Given the description of an element on the screen output the (x, y) to click on. 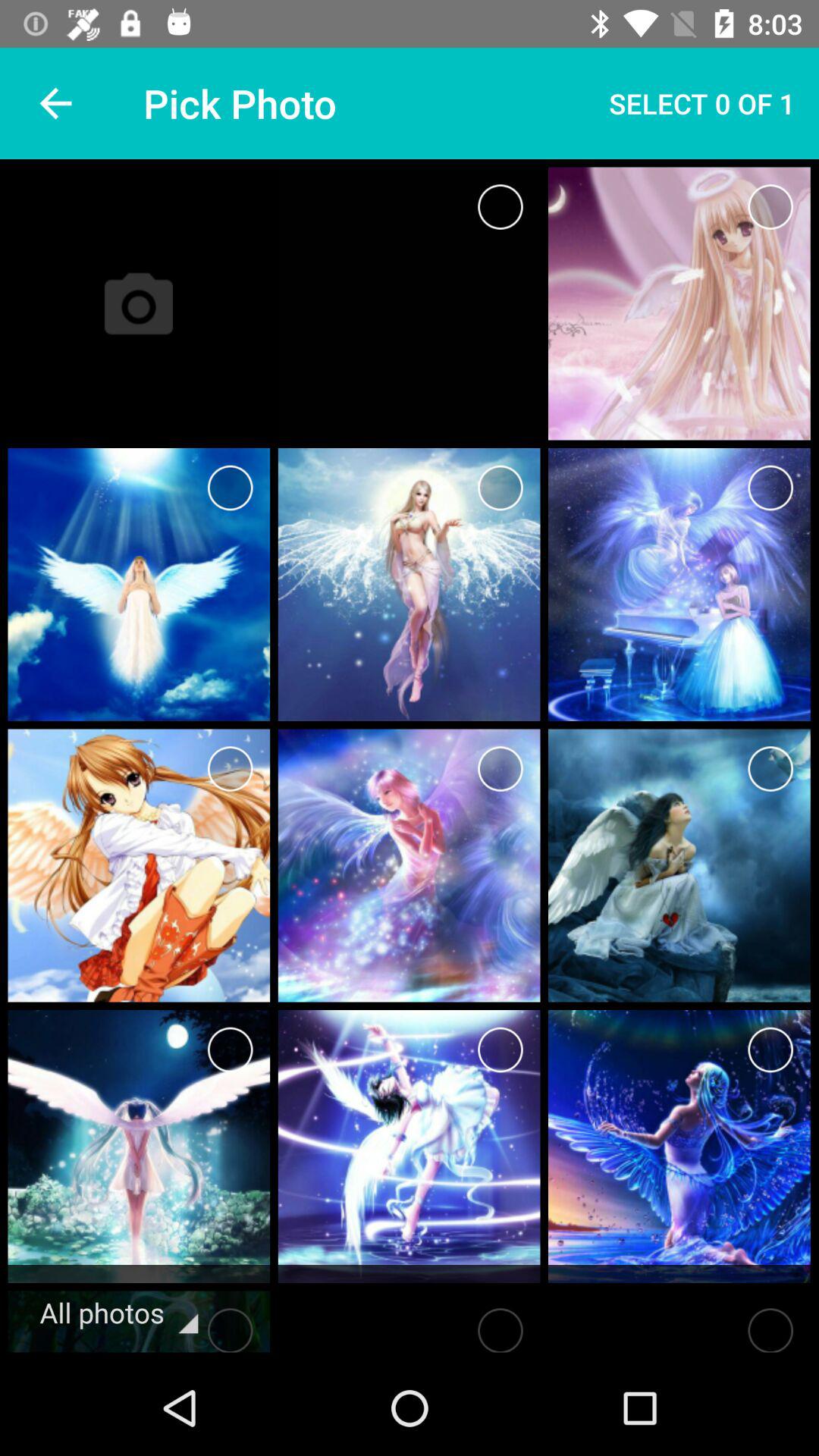
select the picture (770, 206)
